Given the description of an element on the screen output the (x, y) to click on. 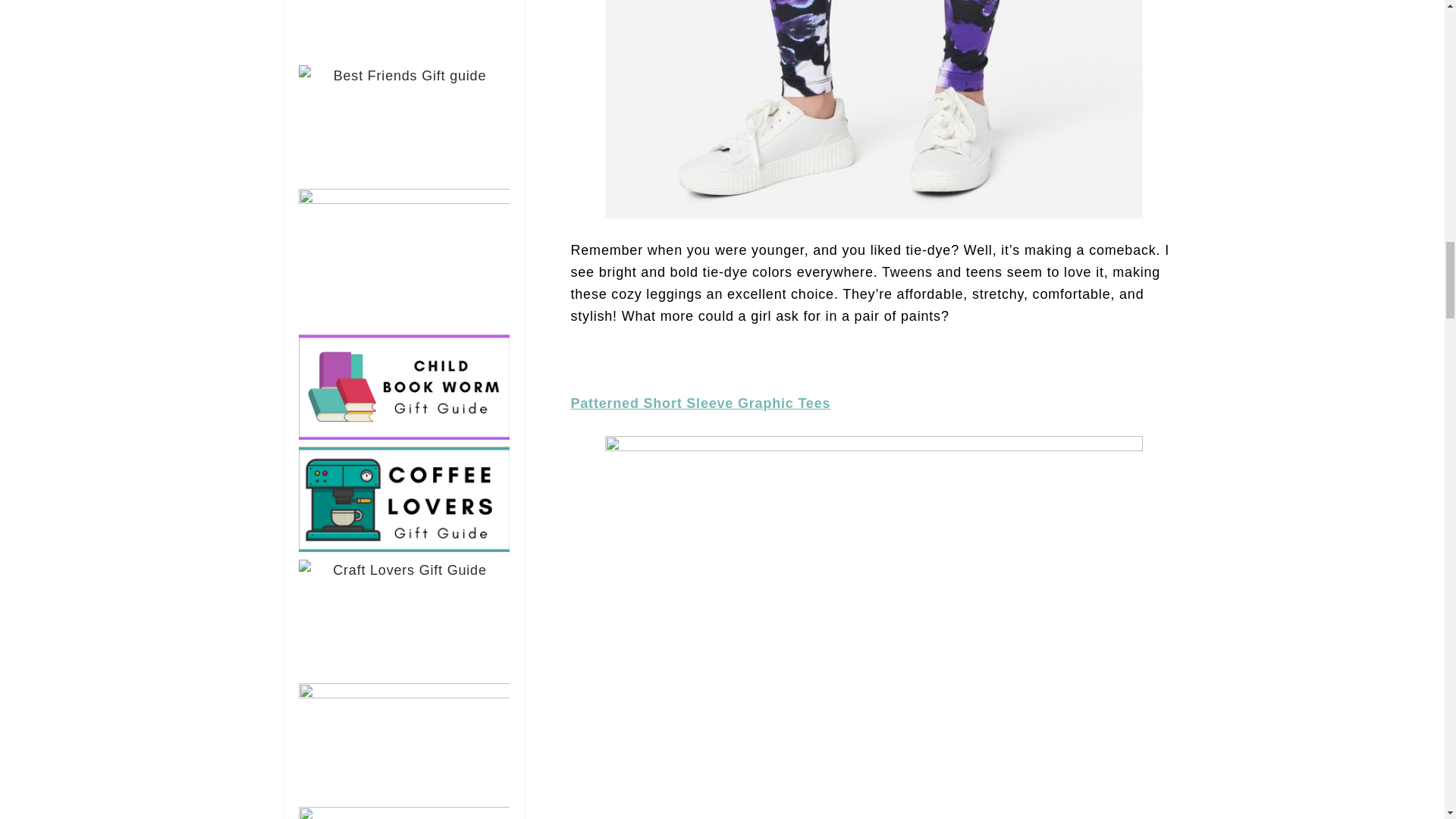
Patterned Short Sleeve Graphic Tees (699, 403)
